Given the description of an element on the screen output the (x, y) to click on. 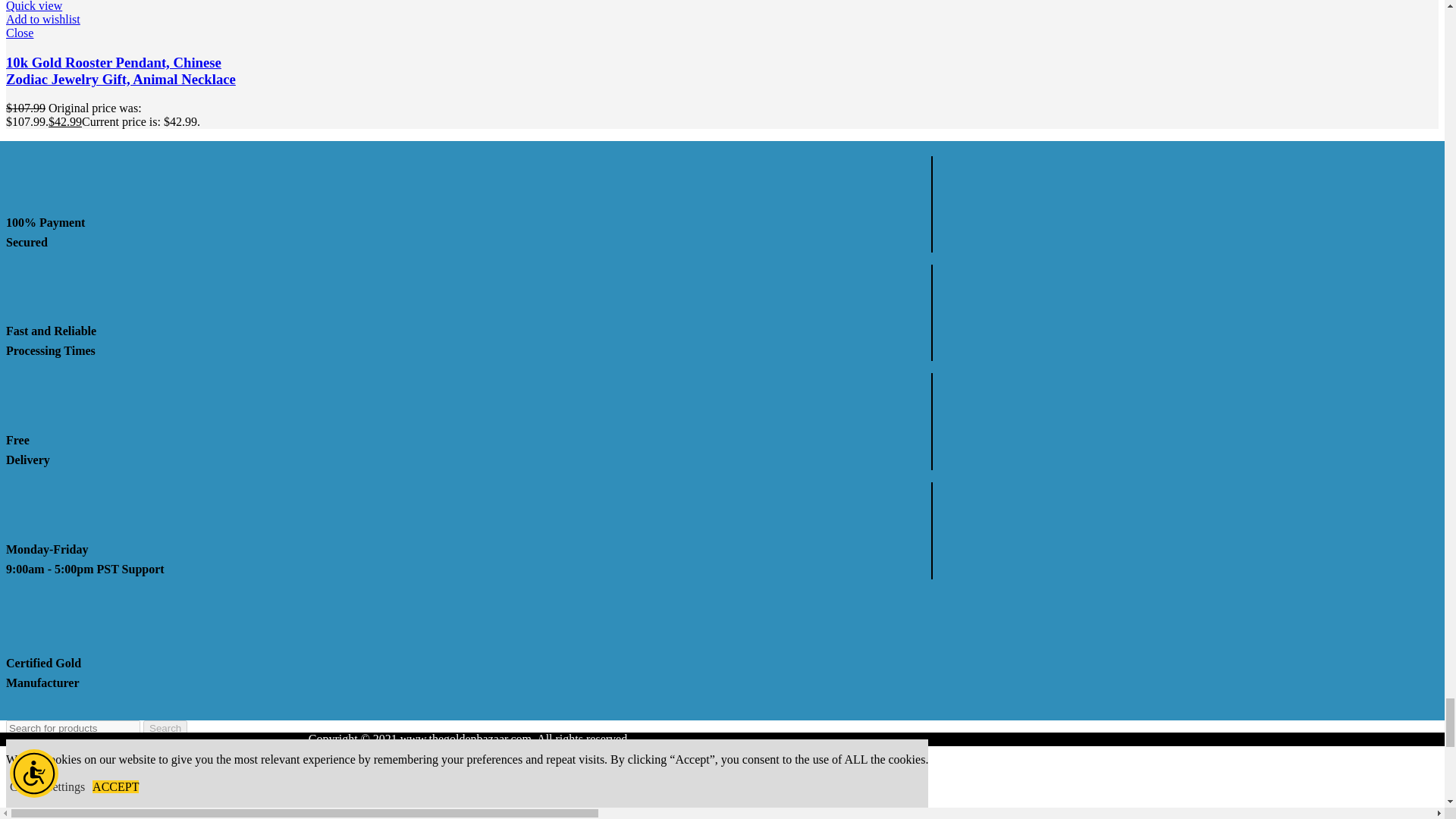
Close (121, 33)
